Given the description of an element on the screen output the (x, y) to click on. 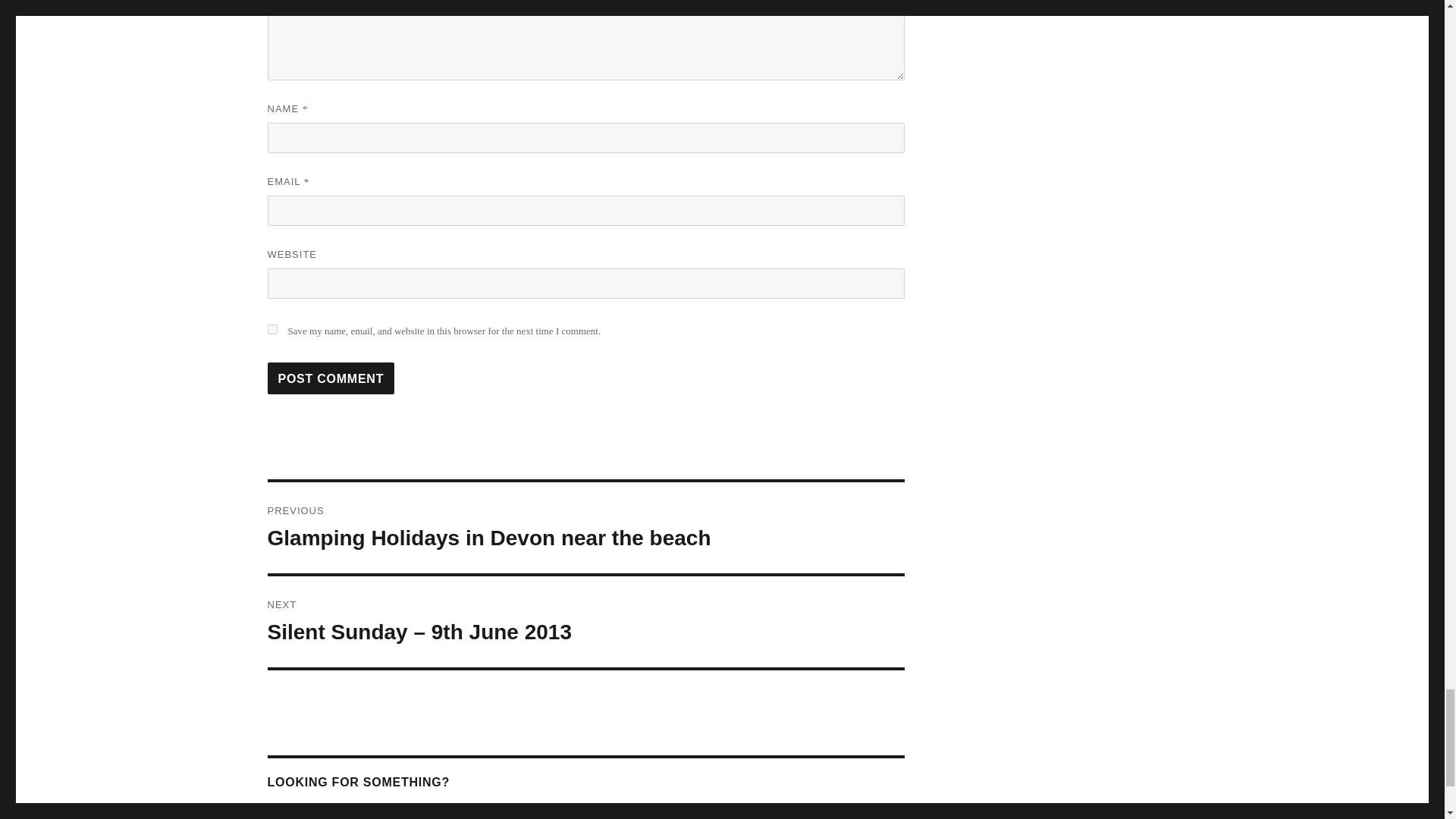
Post Comment (330, 377)
Post Comment (330, 377)
yes (271, 329)
